Given the description of an element on the screen output the (x, y) to click on. 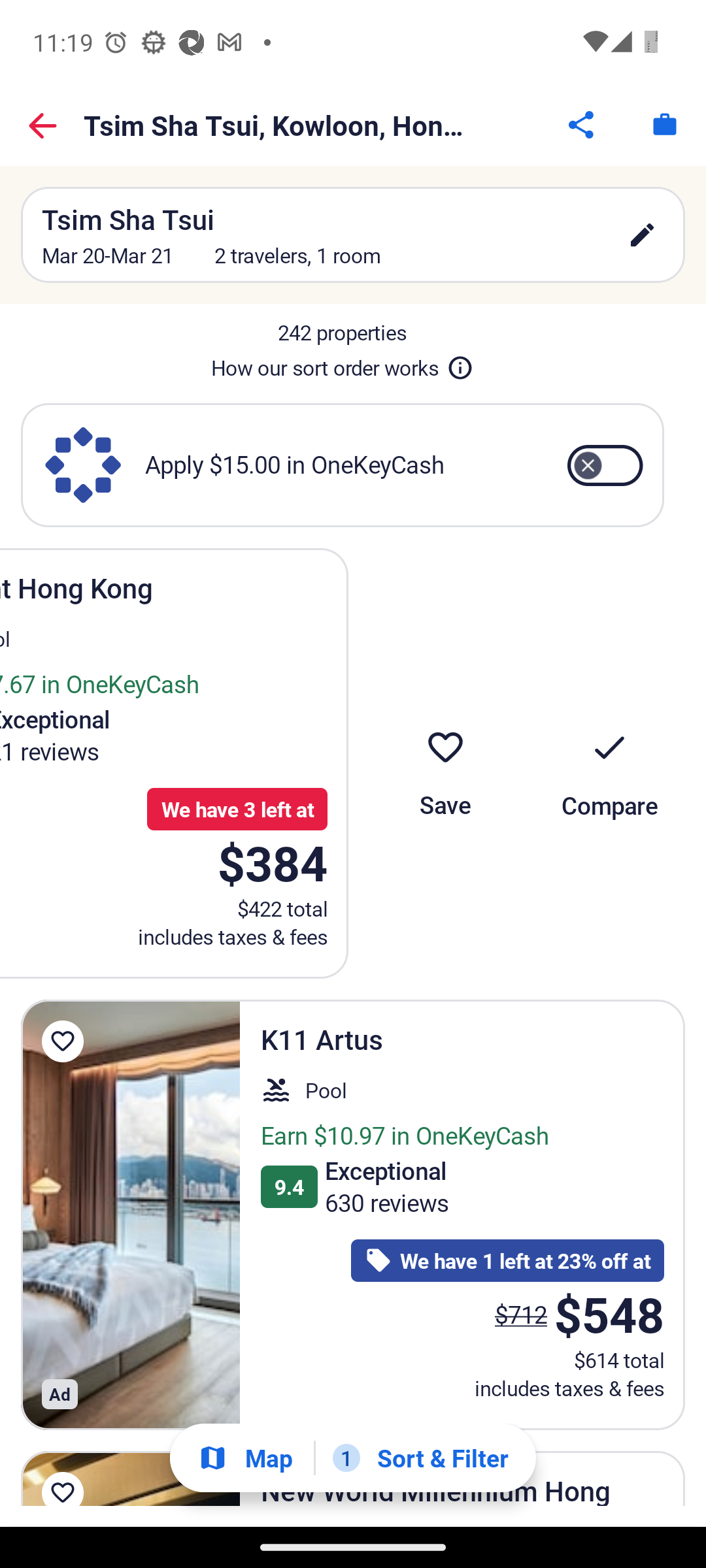
Share Button (582, 124)
Trips. Button (664, 124)
How our sort order works (342, 364)
Save (444, 763)
Compare (608, 763)
K11 Artus (130, 1215)
Save K11 Artus to a trip (62, 1040)
$712 The price was $712 (520, 1314)
1 Sort & Filter 1 Filter applied. Filters Button (420, 1457)
Show map Map Show map Button (244, 1456)
New World Millennium Hong Kong Hotel (130, 1477)
